Given the description of an element on the screen output the (x, y) to click on. 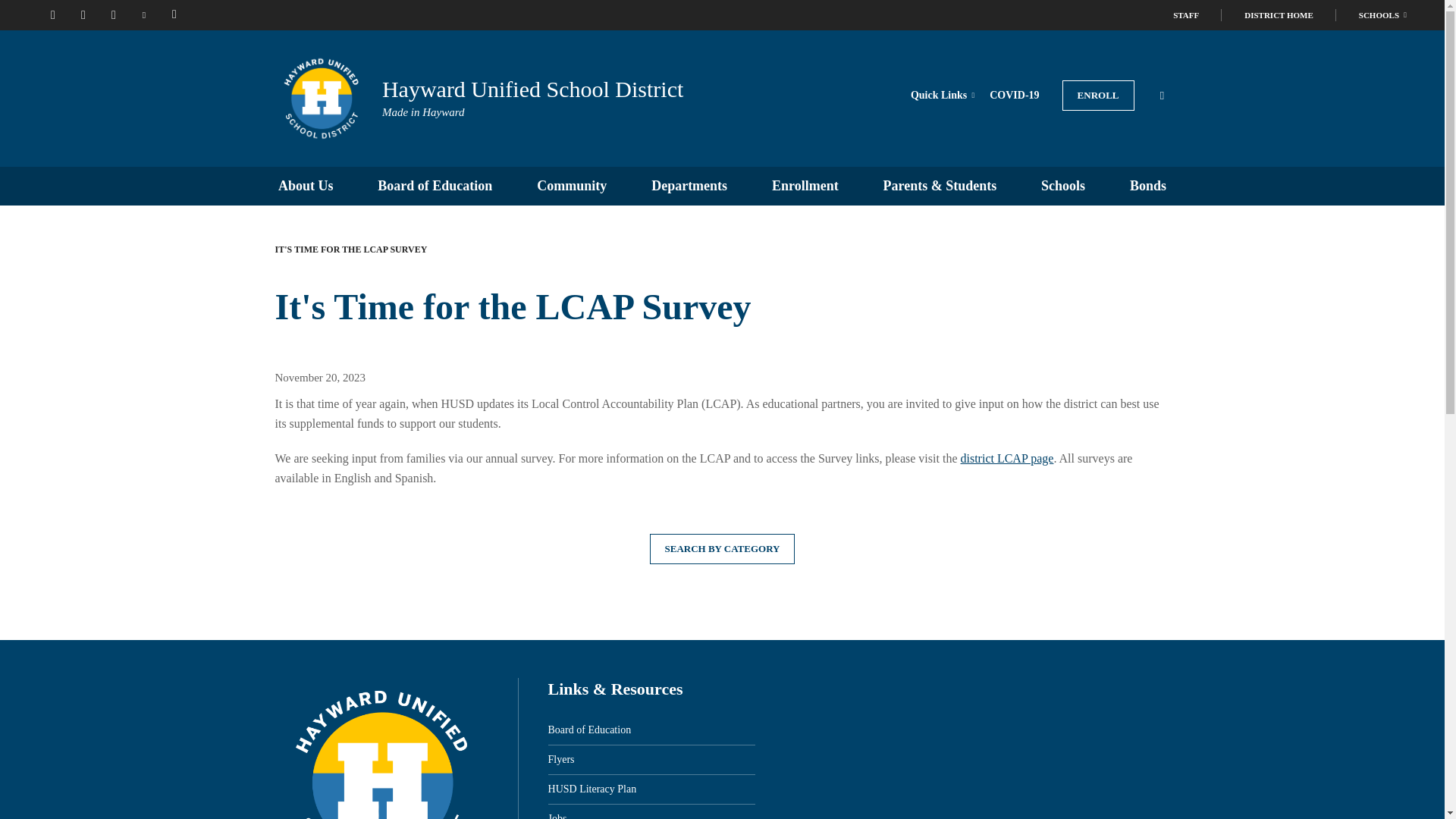
Search by Category (721, 548)
